Given the description of an element on the screen output the (x, y) to click on. 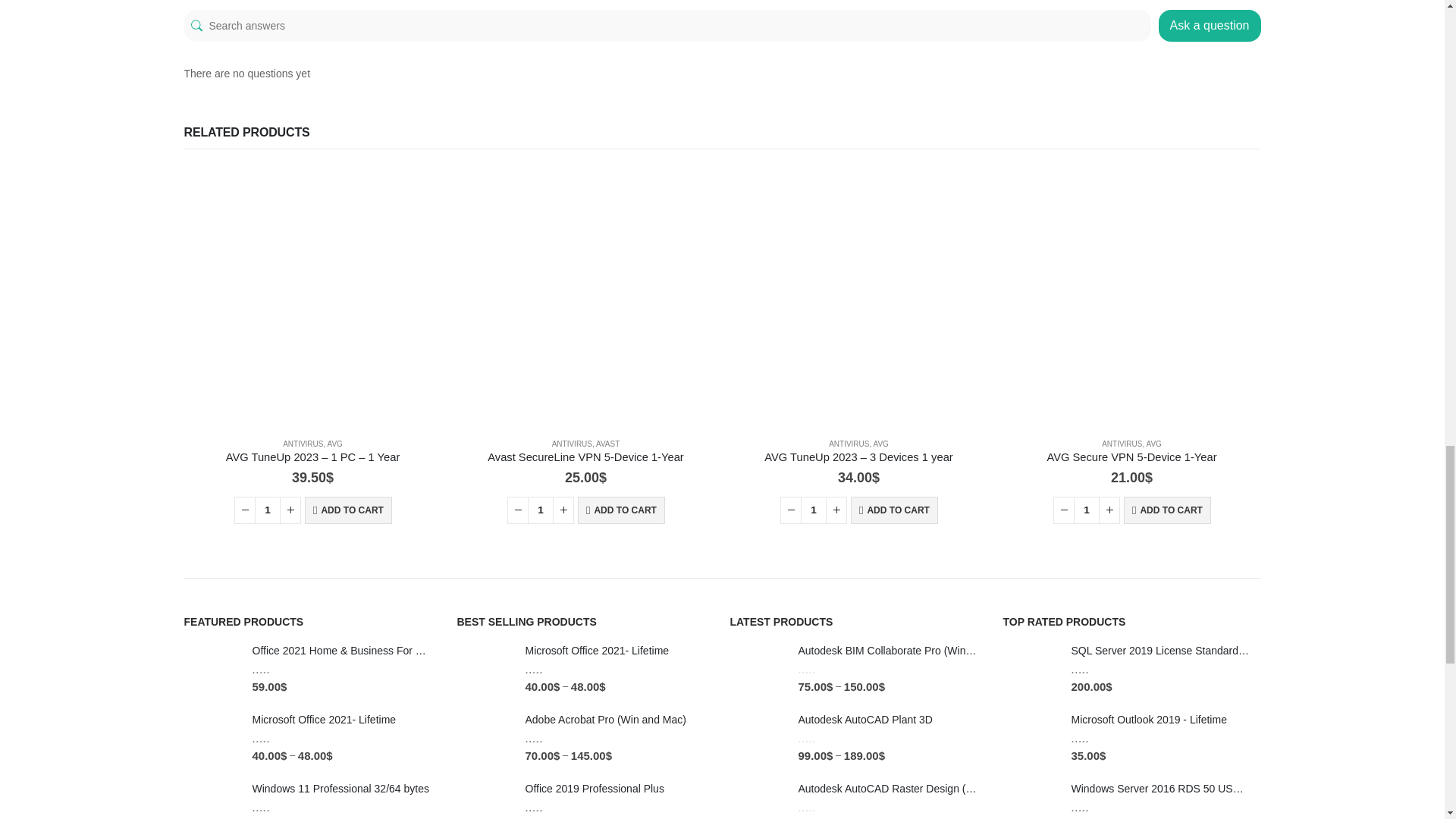
Microsoft Office 2021- Lifetime (340, 720)
1 (813, 510)
1 (267, 510)
1 (540, 510)
4.88 (276, 737)
4.89 (276, 669)
1 (1086, 510)
Microsoft Office 2021- Lifetime (211, 738)
